Given the description of an element on the screen output the (x, y) to click on. 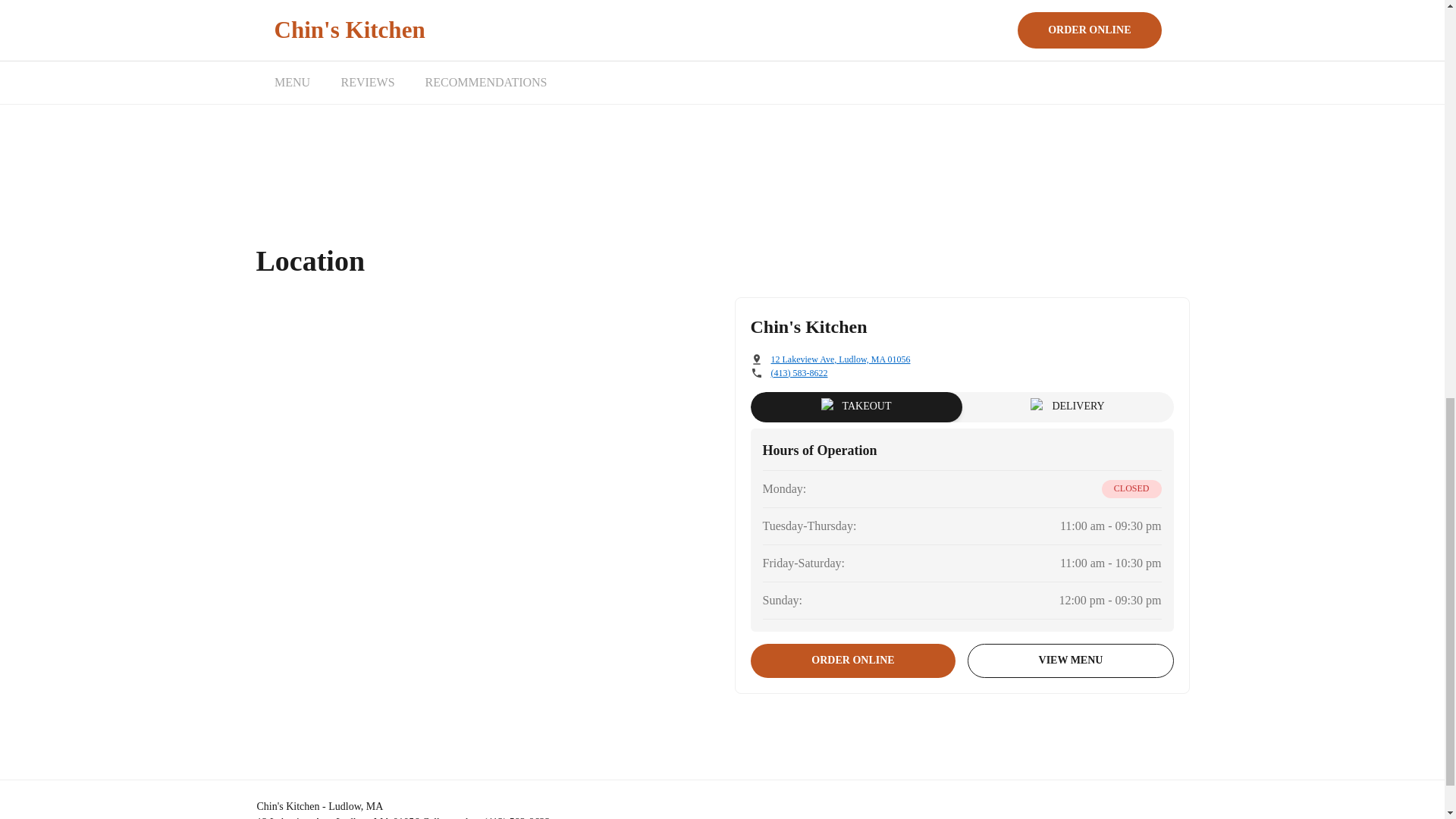
ORDER ONLINE (853, 660)
12 Lakeview Ave, Ludlow, MA 01056 (337, 817)
12 Lakeview Ave, Ludlow, MA 01056 (840, 359)
VIEW MENU (1070, 660)
